Given the description of an element on the screen output the (x, y) to click on. 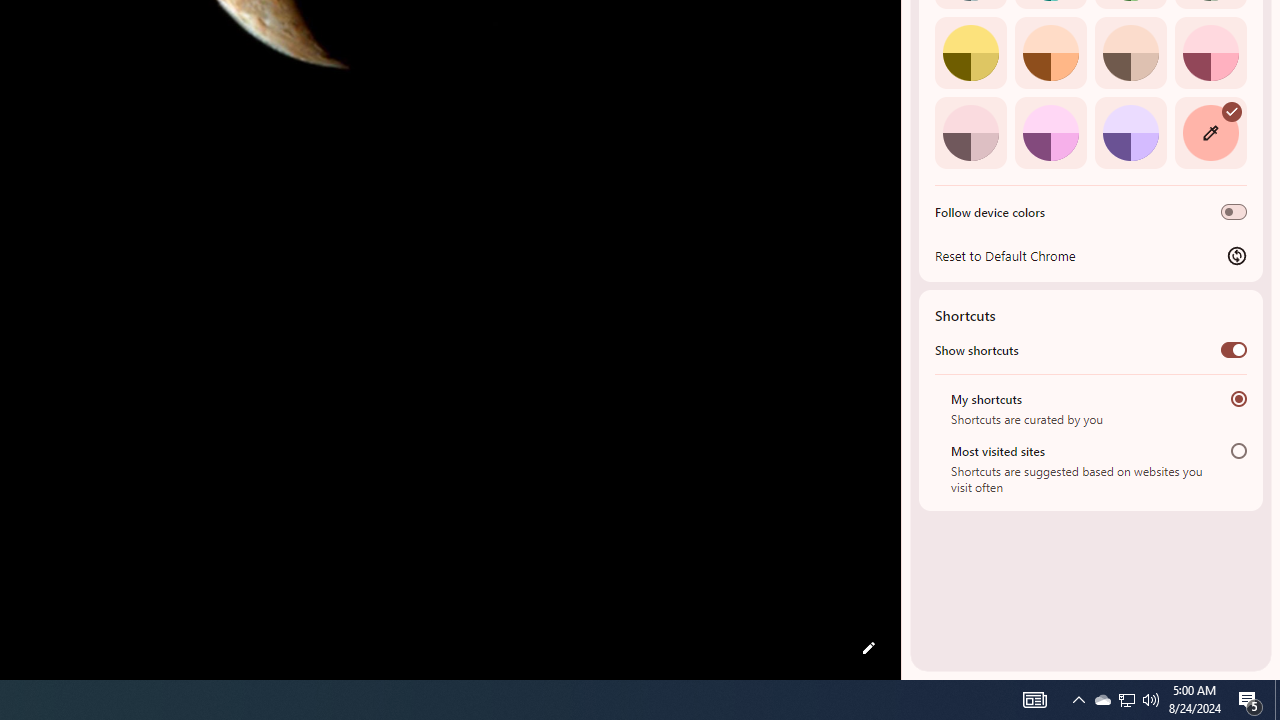
Customize this page (868, 647)
My shortcuts (1238, 398)
